Given the description of an element on the screen output the (x, y) to click on. 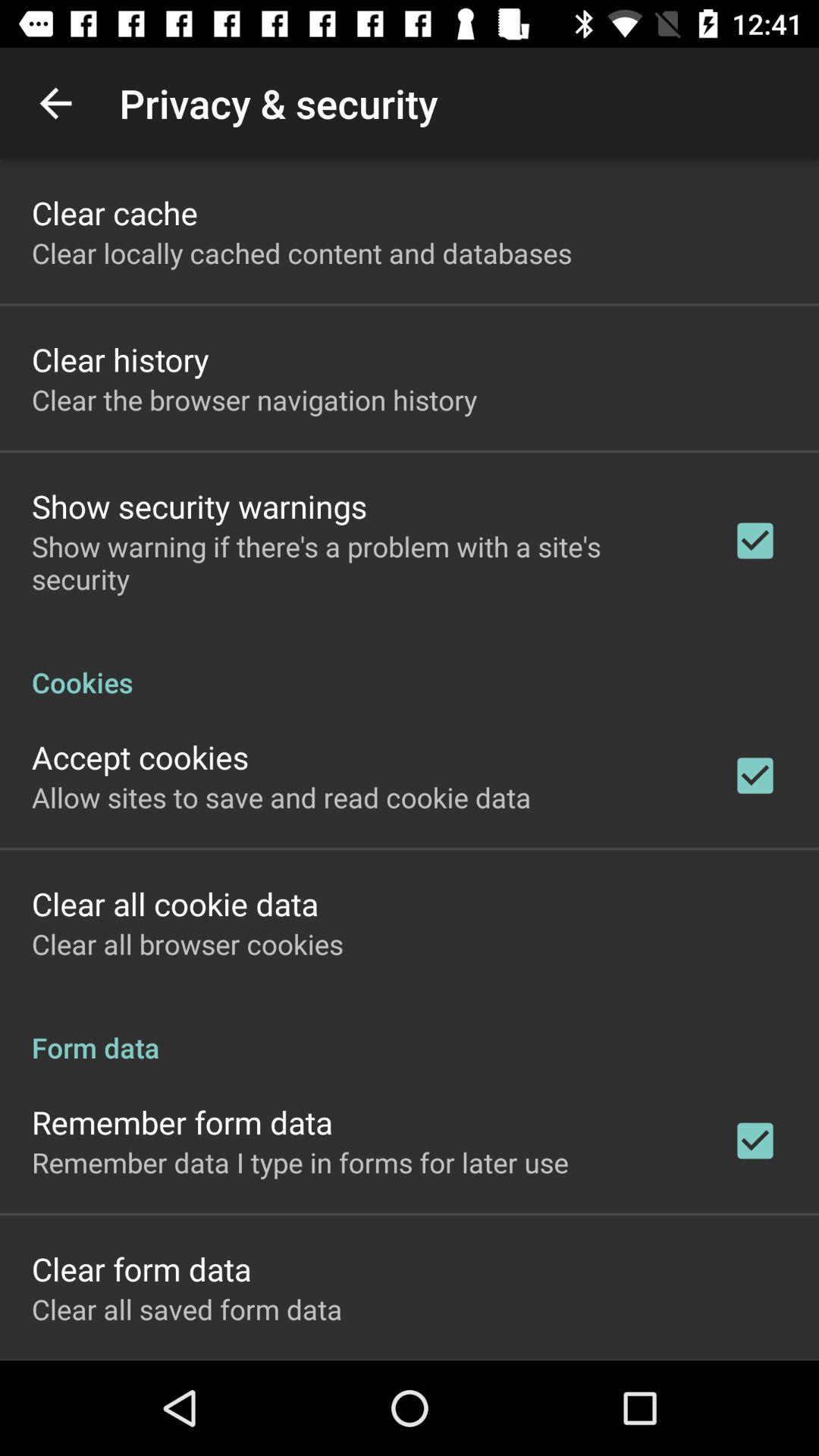
flip until the allow sites to item (281, 797)
